Given the description of an element on the screen output the (x, y) to click on. 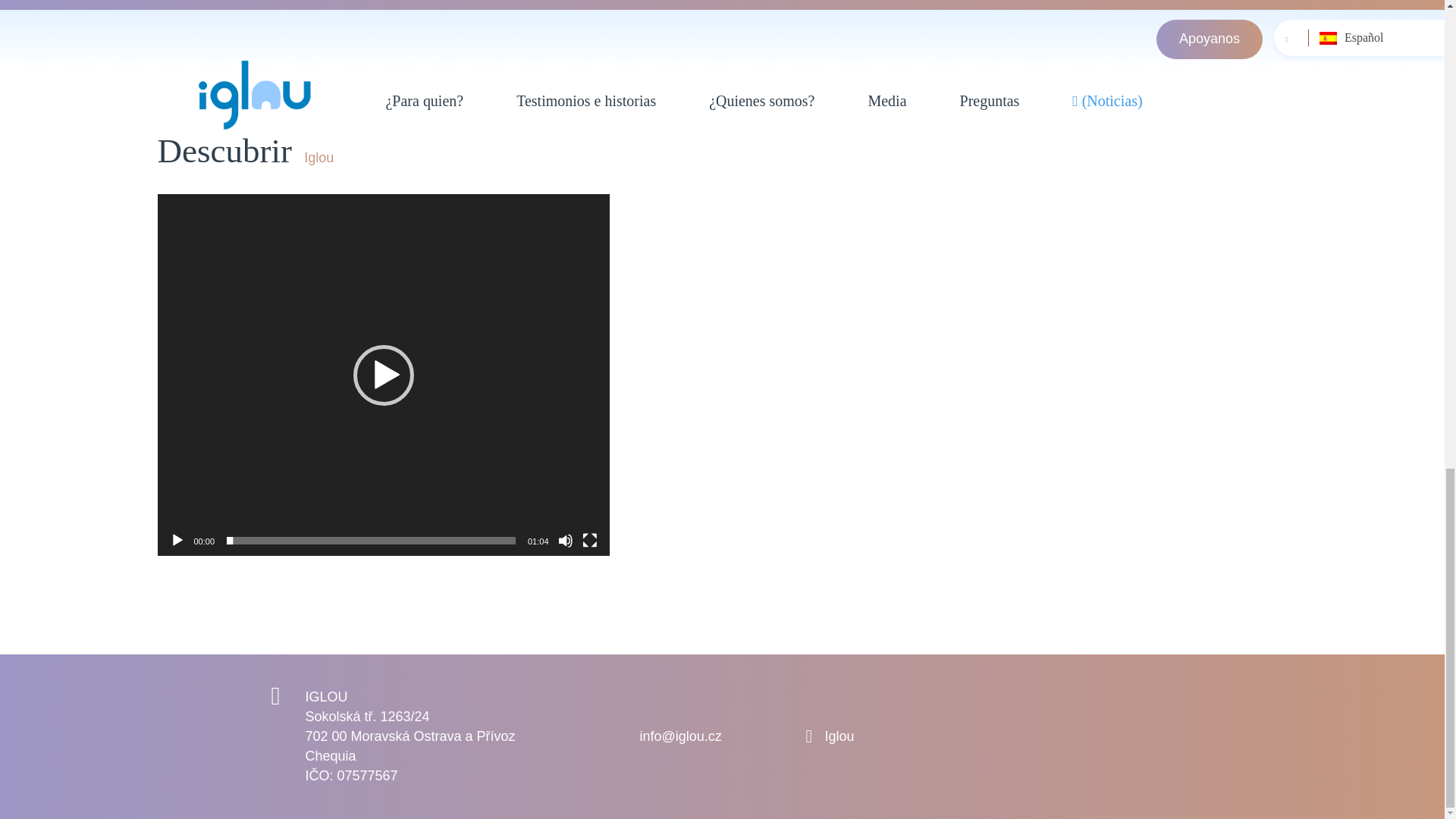
Pantalla completa (589, 540)
Silenciar (565, 540)
Iglou (839, 735)
Reproducir (177, 540)
